Given the description of an element on the screen output the (x, y) to click on. 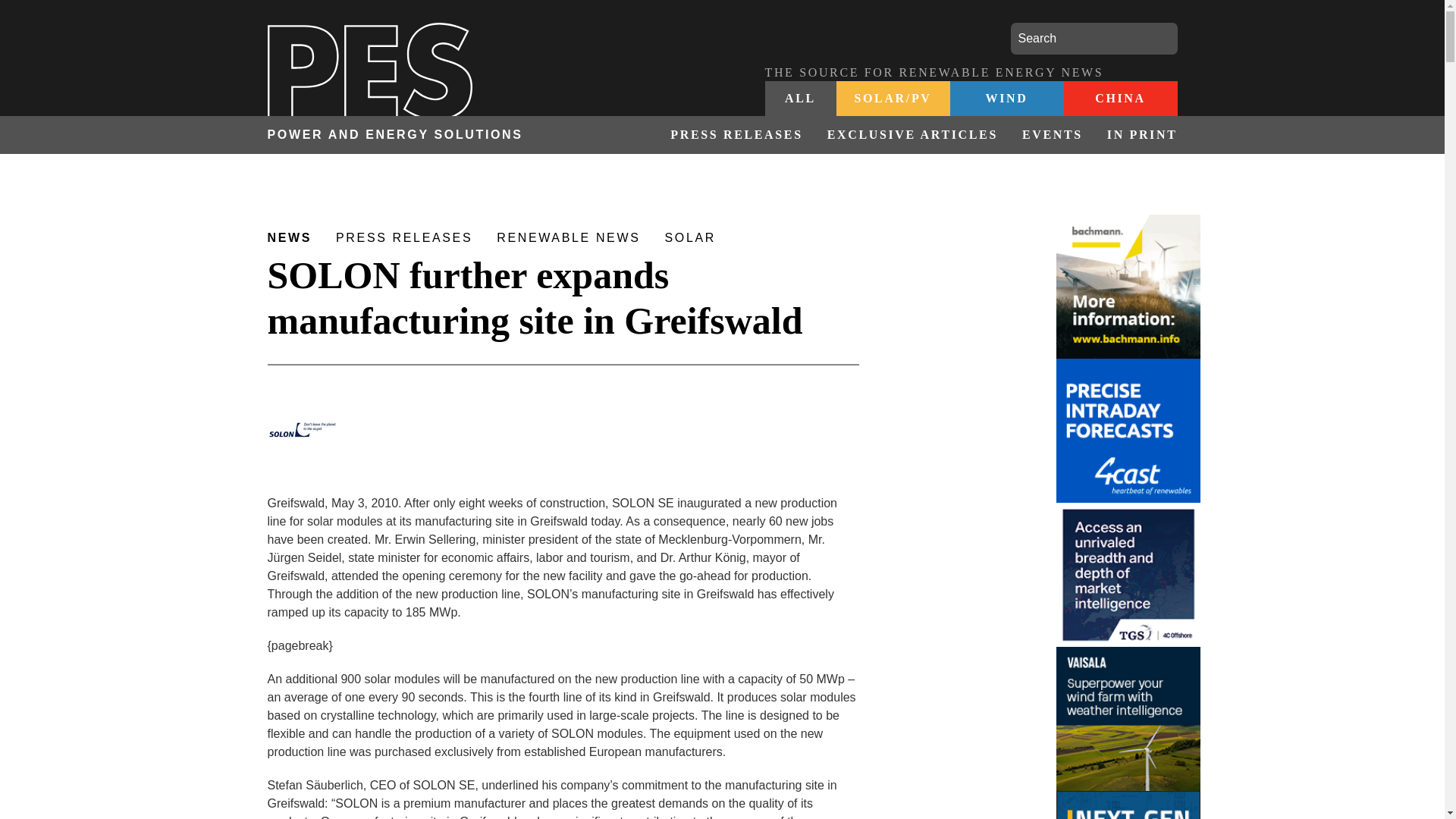
EVENTS (1052, 134)
CHINA (1119, 98)
PRESS RELEASES (735, 134)
EXCLUSIVE ARTICLES (912, 134)
IN PRINT (1135, 134)
WIND (1005, 98)
ALL (799, 98)
Search for: (1093, 38)
